Given the description of an element on the screen output the (x, y) to click on. 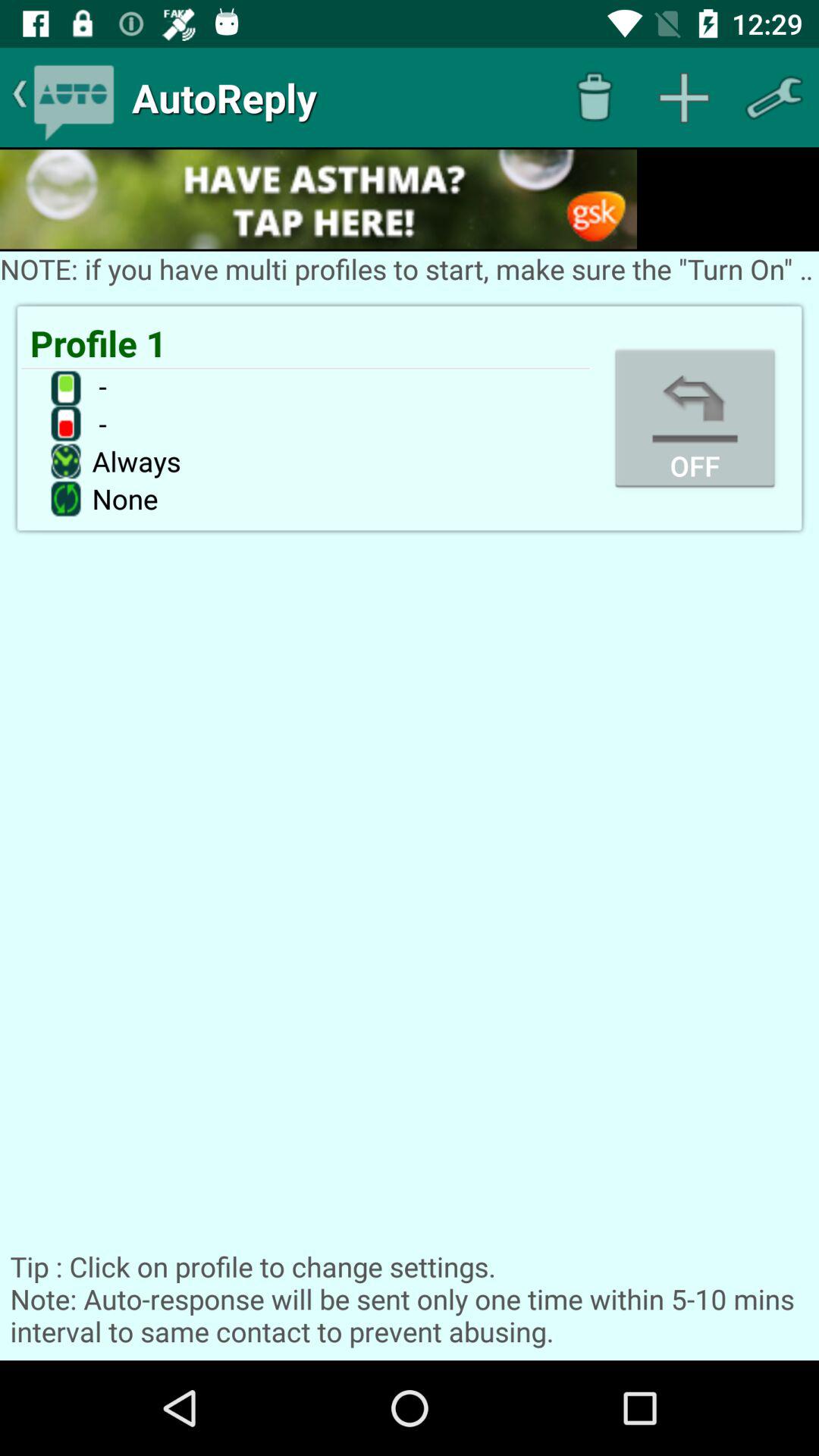
delete option (594, 97)
